Given the description of an element on the screen output the (x, y) to click on. 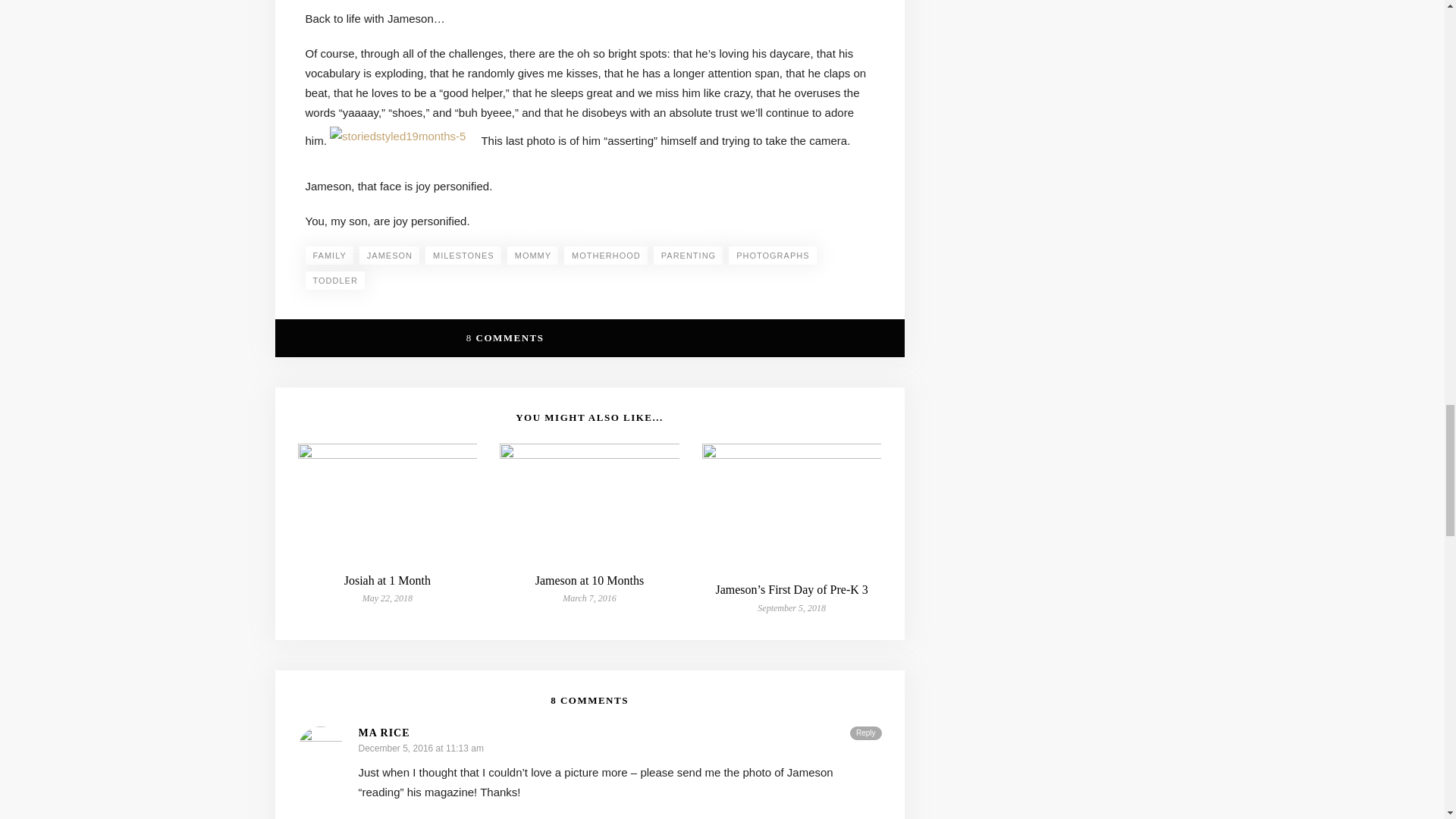
PHOTOGRAPHS (772, 255)
MILESTONES (462, 255)
TODDLER (334, 280)
FAMILY (328, 255)
MOTHERHOOD (605, 255)
8 COMMENTS (504, 337)
MOMMY (531, 255)
PARENTING (687, 255)
JAMESON (389, 255)
Reply (866, 733)
Josiah at 1 Month (386, 580)
Jameson at 10 Months (590, 580)
